Given the description of an element on the screen output the (x, y) to click on. 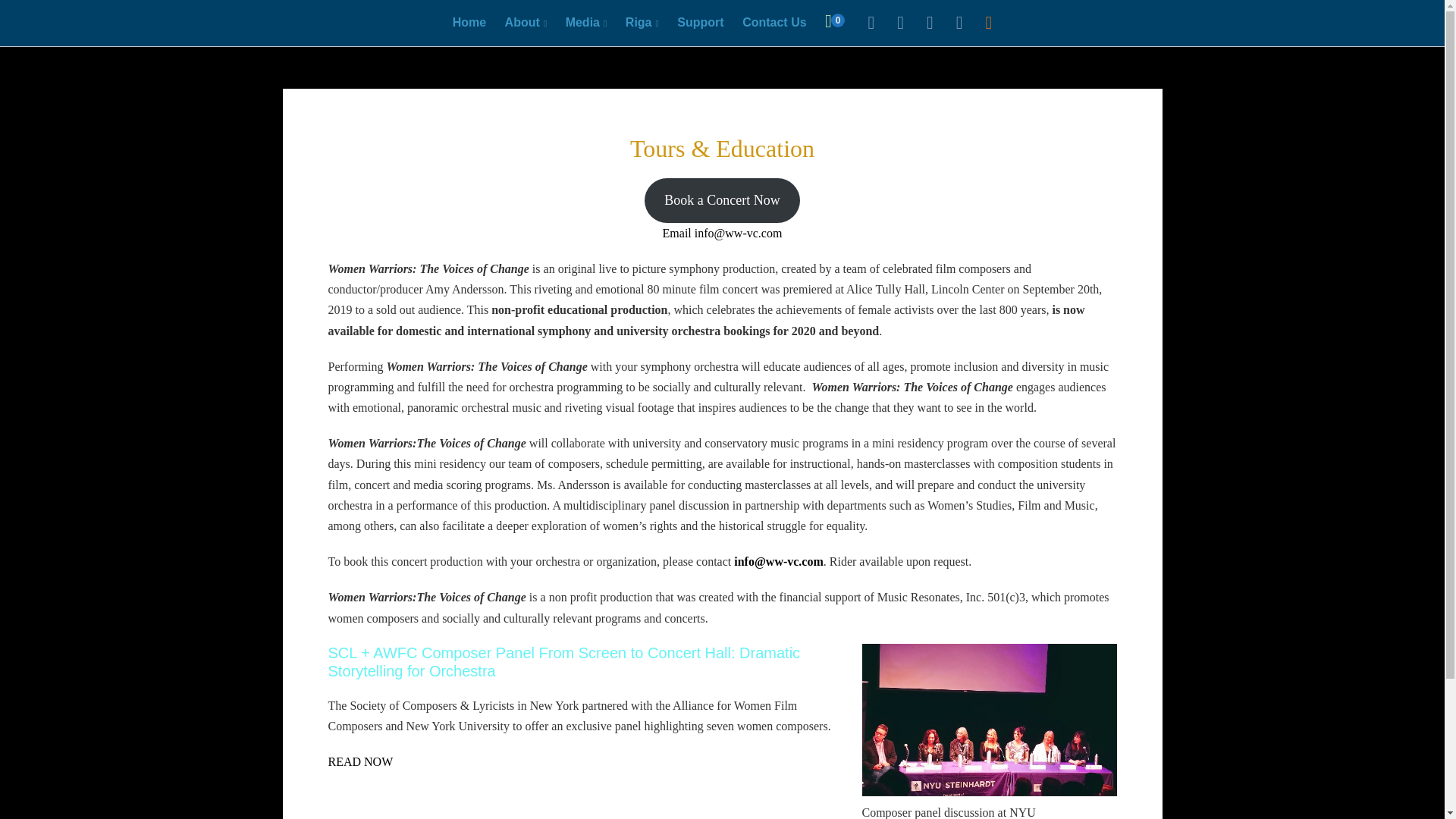
About (833, 22)
Riga (525, 22)
Contact Us (641, 22)
Home (774, 22)
Support (469, 22)
Shopping Cart (699, 22)
Media (833, 22)
